Given the description of an element on the screen output the (x, y) to click on. 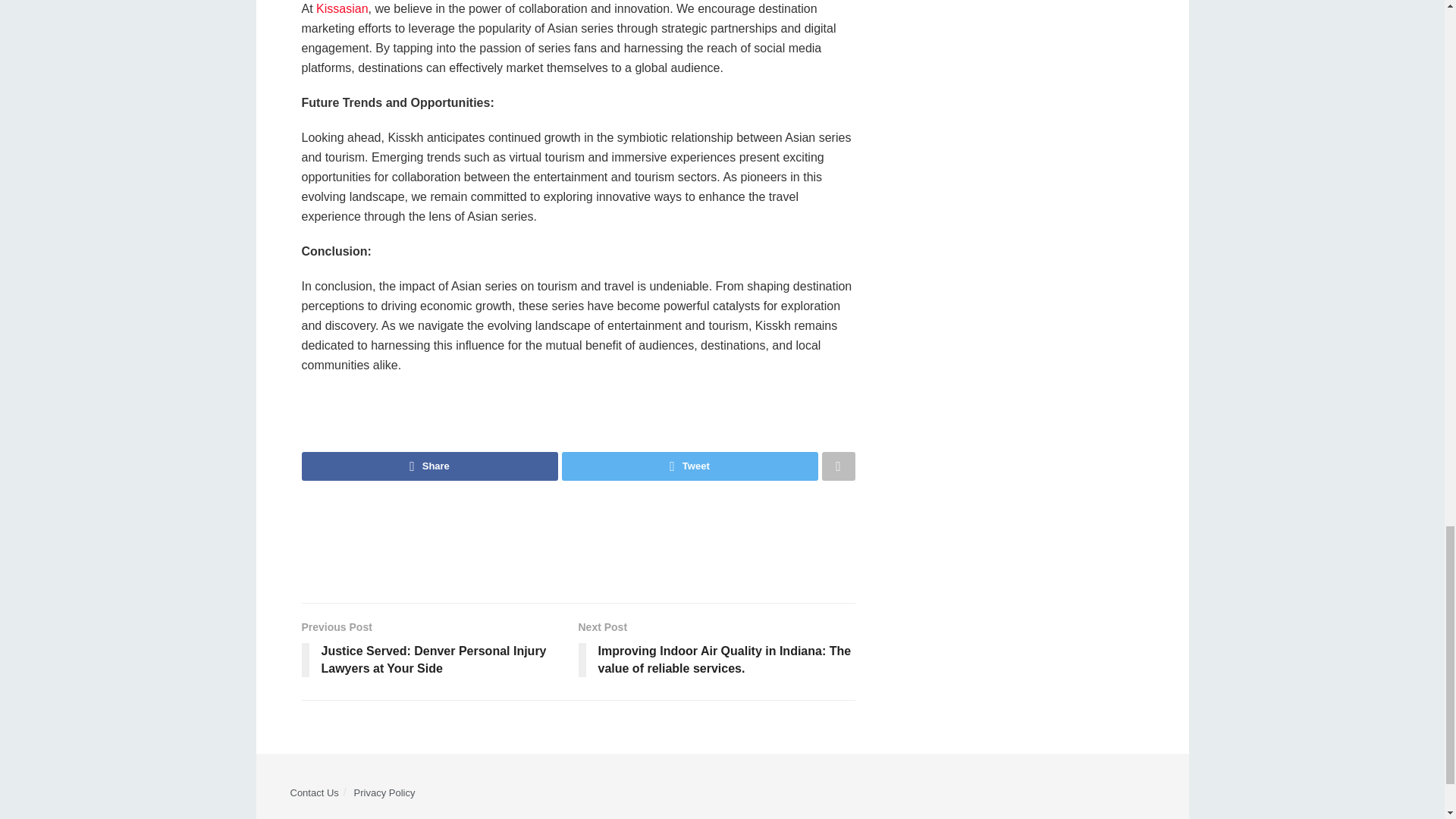
Advertisement (577, 540)
